Given the description of an element on the screen output the (x, y) to click on. 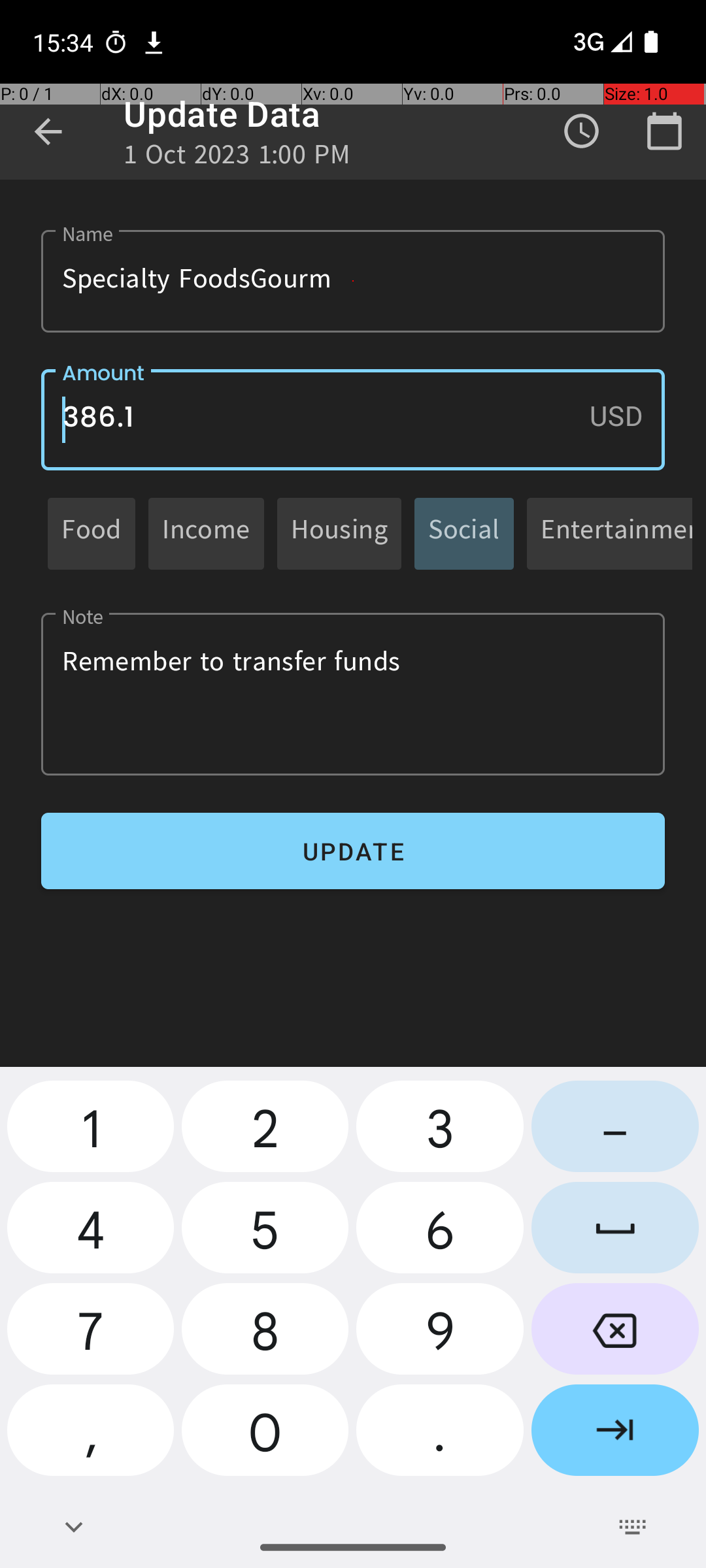
1 Oct 2023 1:00 PM Element type: android.widget.TextView (237, 157)
Specialty FoodsGourm Element type: android.widget.EditText (352, 280)
386.1 Element type: android.widget.EditText (352, 419)
